Given the description of an element on the screen output the (x, y) to click on. 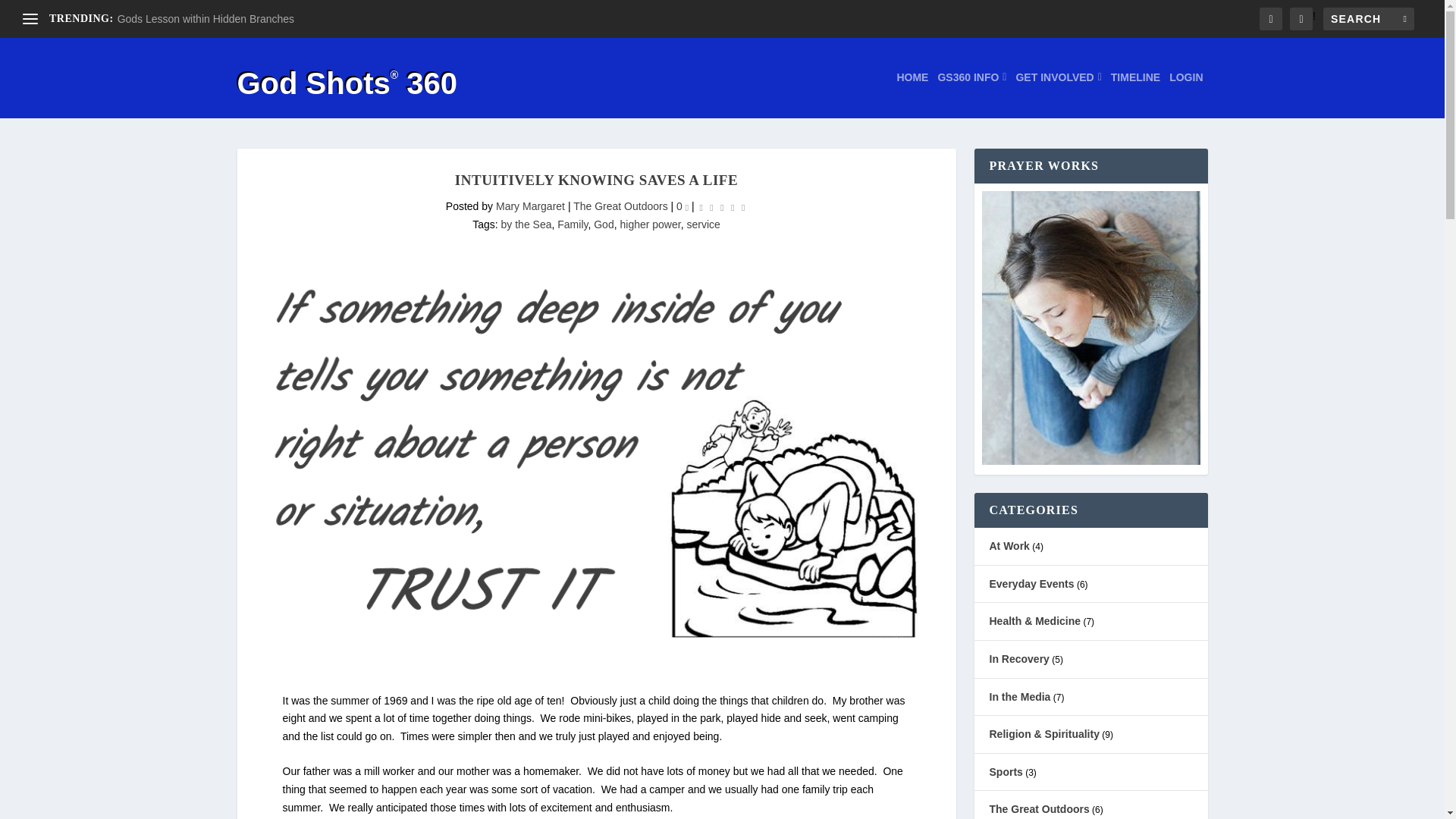
Posts by Mary Margaret (530, 205)
GET INVOLVED (1057, 94)
LOGIN (1185, 94)
Gods Lesson within Hidden Branches (205, 19)
TIMELINE (1135, 94)
GS360 INFO (971, 94)
Mary Margaret (530, 205)
Search for: (1368, 18)
comment count (686, 208)
HOME (912, 94)
Rating: 4.50 (722, 207)
